Given the description of an element on the screen output the (x, y) to click on. 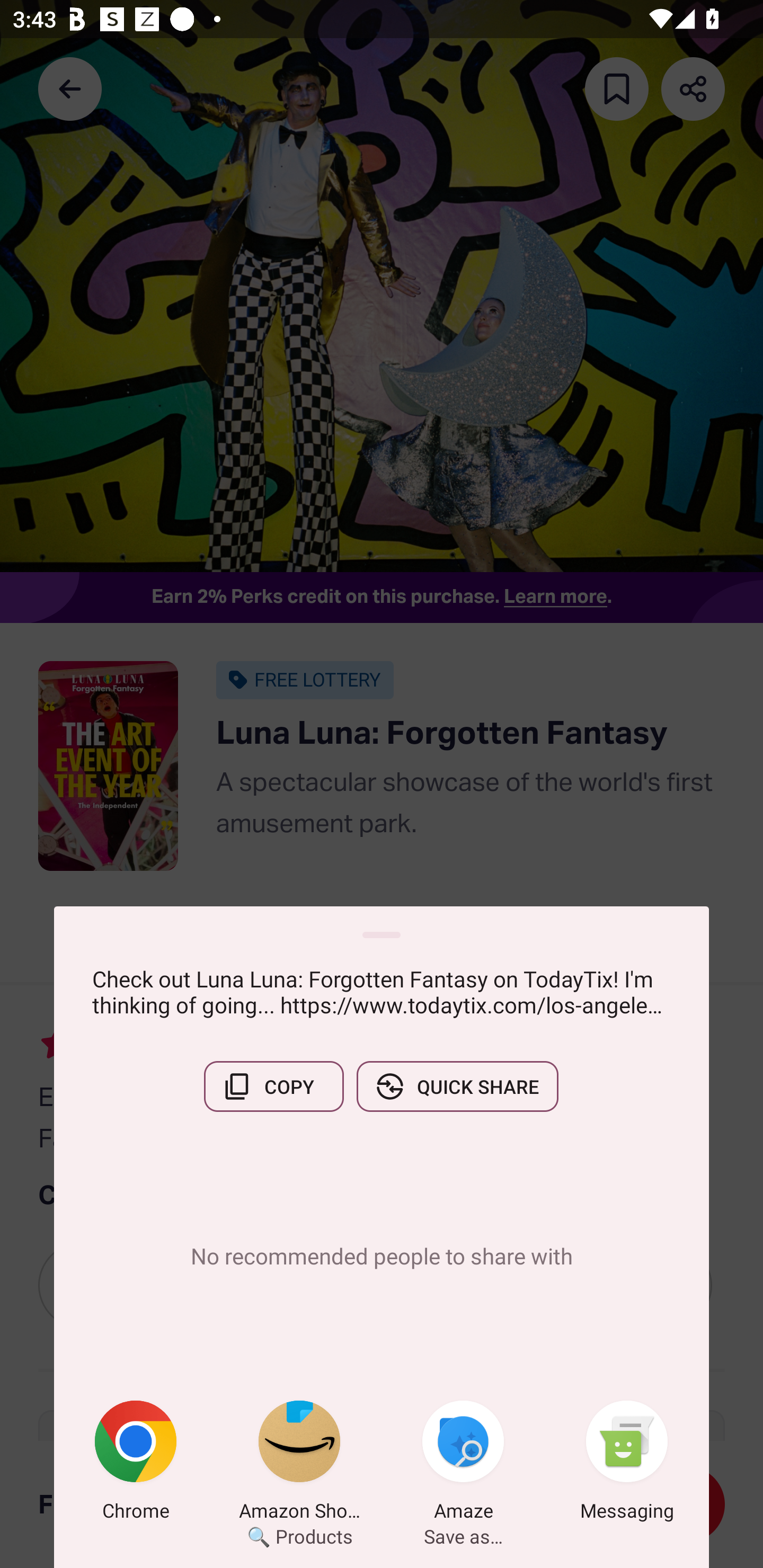
COPY (273, 1086)
QUICK SHARE (457, 1086)
Chrome (135, 1463)
Amazon Shopping 🔍 Products (299, 1463)
Amaze Save as… (463, 1463)
Messaging (626, 1463)
